Given the description of an element on the screen output the (x, y) to click on. 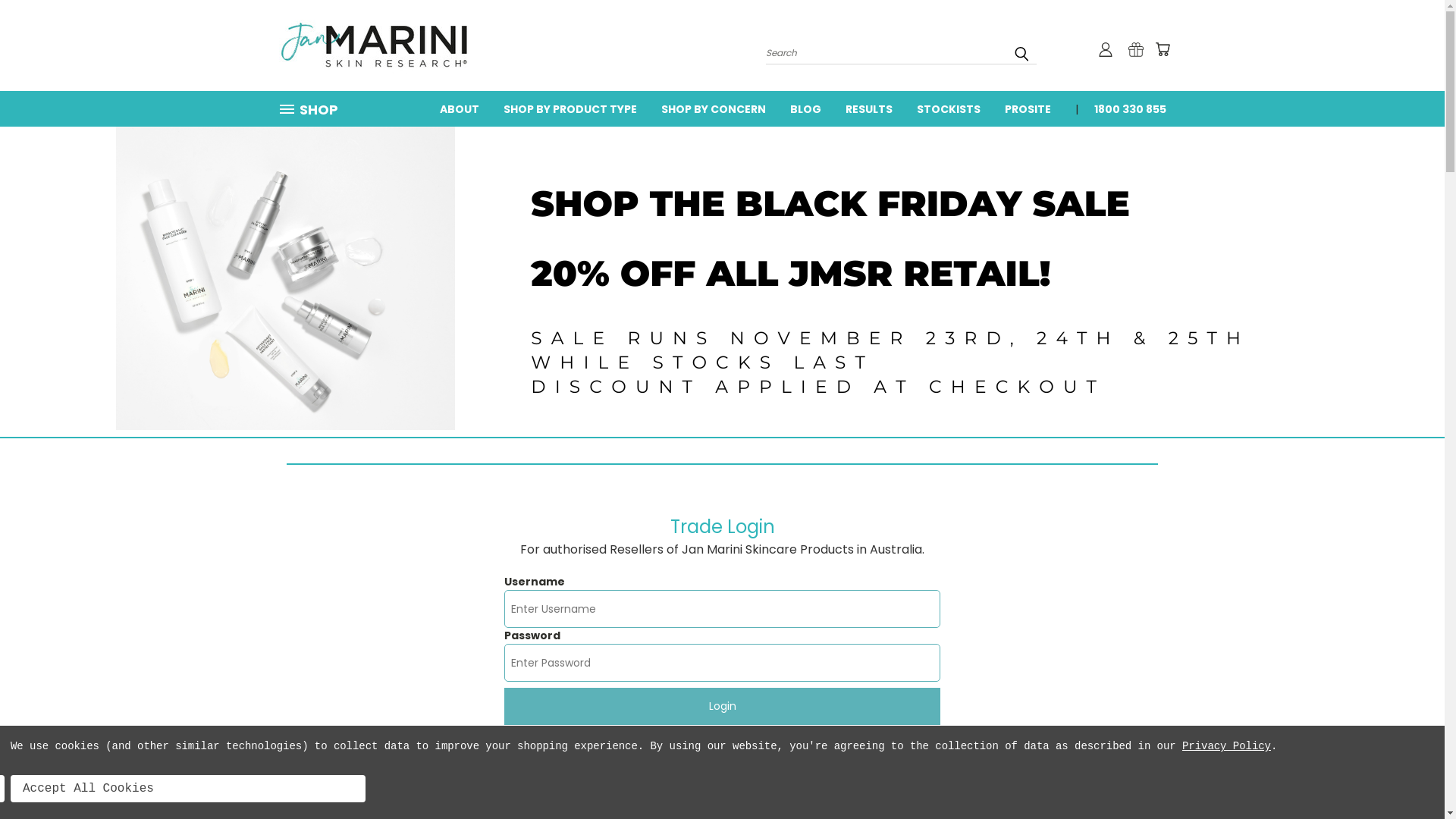
1800 330 855 Element type: text (1123, 108)
SHOP Element type: text (314, 109)
RESULTS Element type: text (867, 108)
Login Element type: text (722, 705)
SHOP BY PRODUCT TYPE Element type: text (570, 108)
janmariniaustralia Element type: hover (373, 45)
User Toolbox Element type: hover (1105, 48)
Gift Certificates Element type: hover (1135, 48)
Submit Search Element type: hover (1021, 53)
ABOUT Element type: text (459, 108)
PROSITE Element type: text (1026, 108)
BLOG Element type: text (805, 108)
Privacy Policy Element type: text (1226, 746)
STOCKISTS Element type: text (947, 108)
SHOP BY CONCERN Element type: text (713, 108)
Accept All Cookies Element type: text (187, 788)
